Given the description of an element on the screen output the (x, y) to click on. 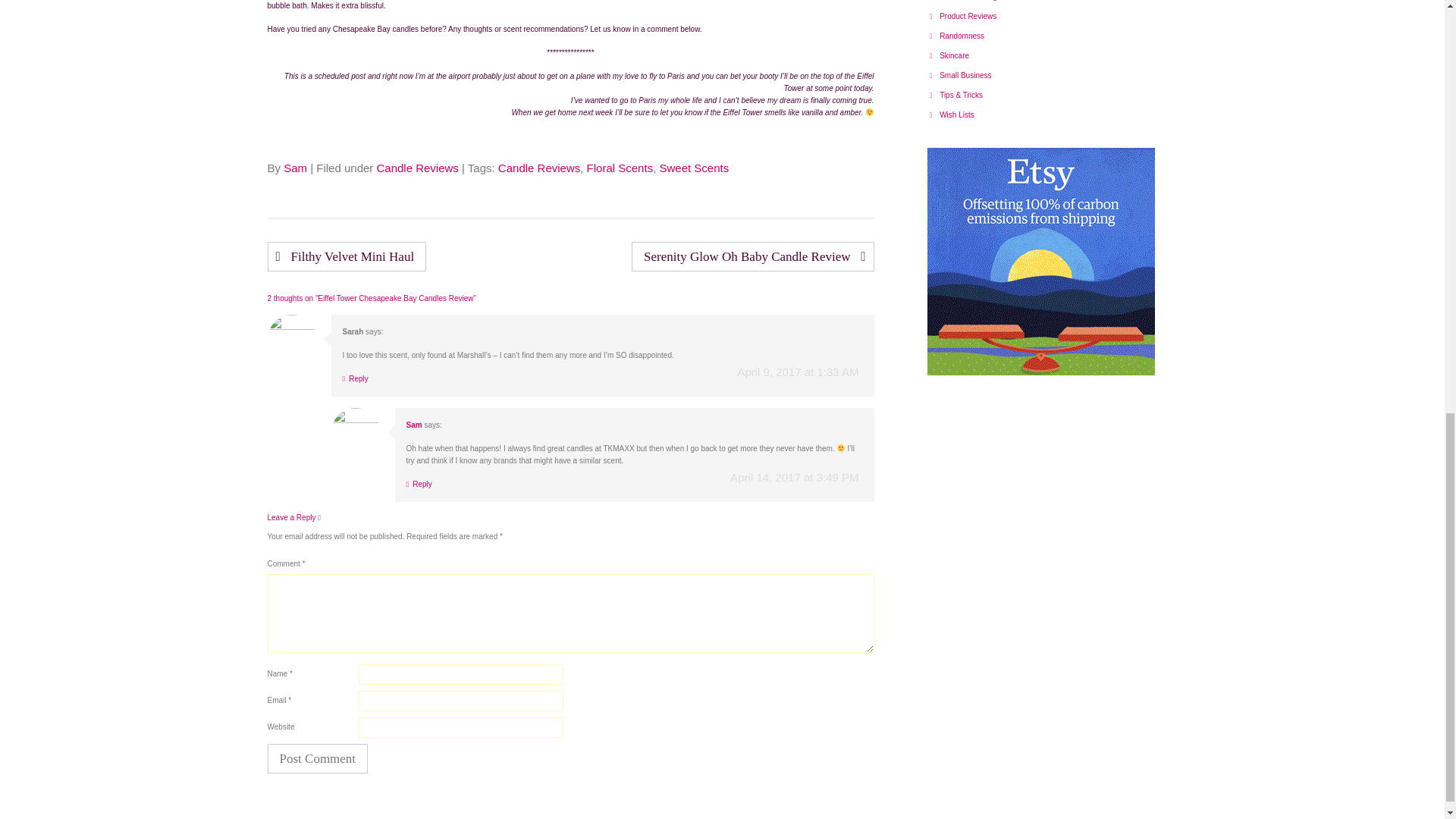
Post Comment (317, 758)
April 14, 2017 at 3:49 PM (794, 477)
Candle Reviews (416, 167)
April 9, 2017 at 1:33 AM (797, 371)
Serenity Glow Oh Baby Candle Review (752, 256)
Sam (295, 167)
Reply (419, 483)
Candle Reviews (538, 167)
Filthy Velvet Mini Haul (346, 256)
Sam (414, 424)
Floral Scents (619, 167)
Reply (355, 378)
Sweet Scents (694, 167)
Post Comment (317, 758)
